Given the description of an element on the screen output the (x, y) to click on. 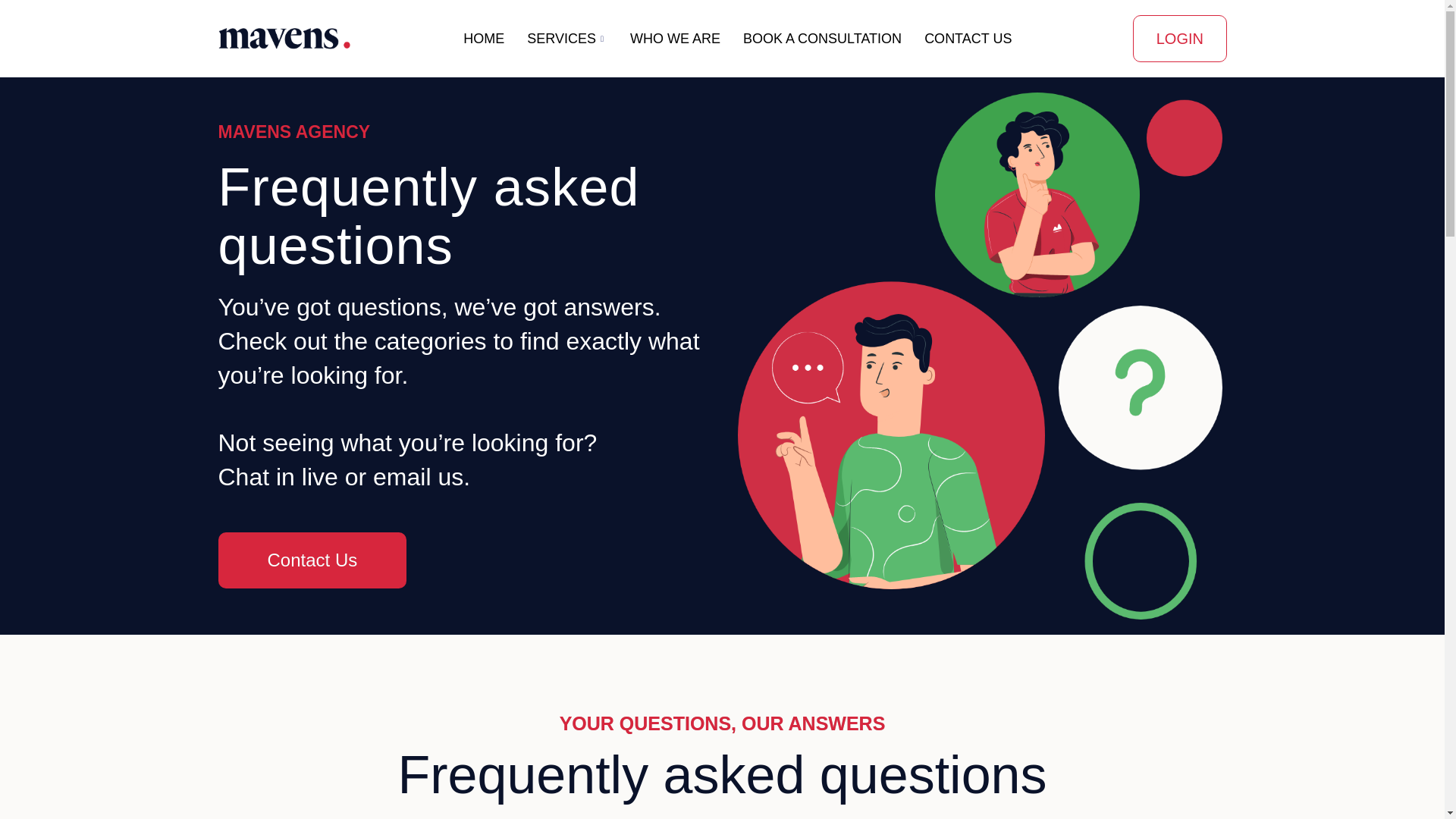
LOGIN (1179, 38)
WHO WE ARE (675, 38)
SERVICES (566, 38)
Contact Us (312, 560)
CONTACT US (967, 38)
HOME (483, 38)
BOOK A CONSULTATION (822, 38)
